Given the description of an element on the screen output the (x, y) to click on. 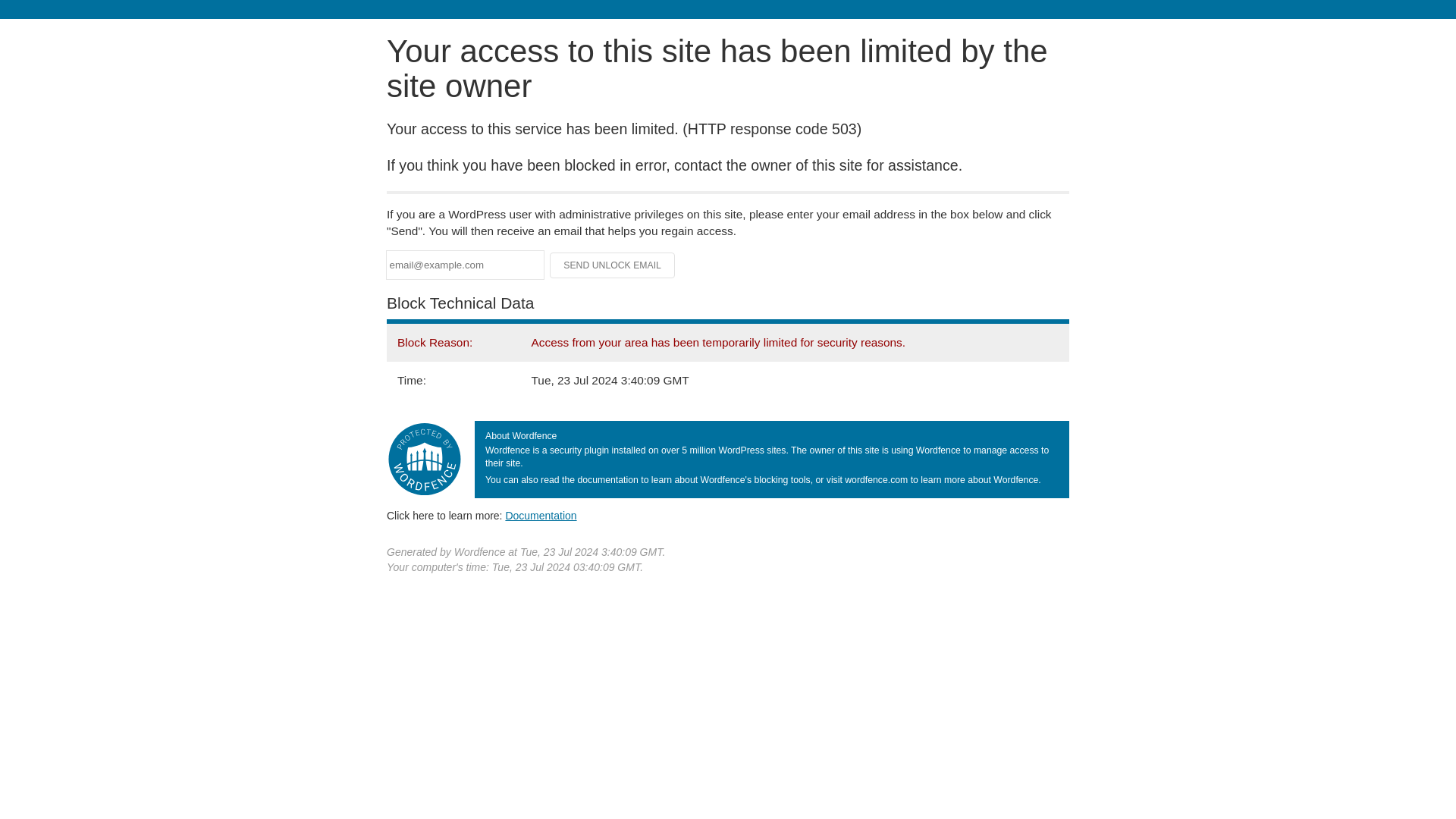
Send Unlock Email (612, 265)
Send Unlock Email (612, 265)
Documentation (540, 515)
